Given the description of an element on the screen output the (x, y) to click on. 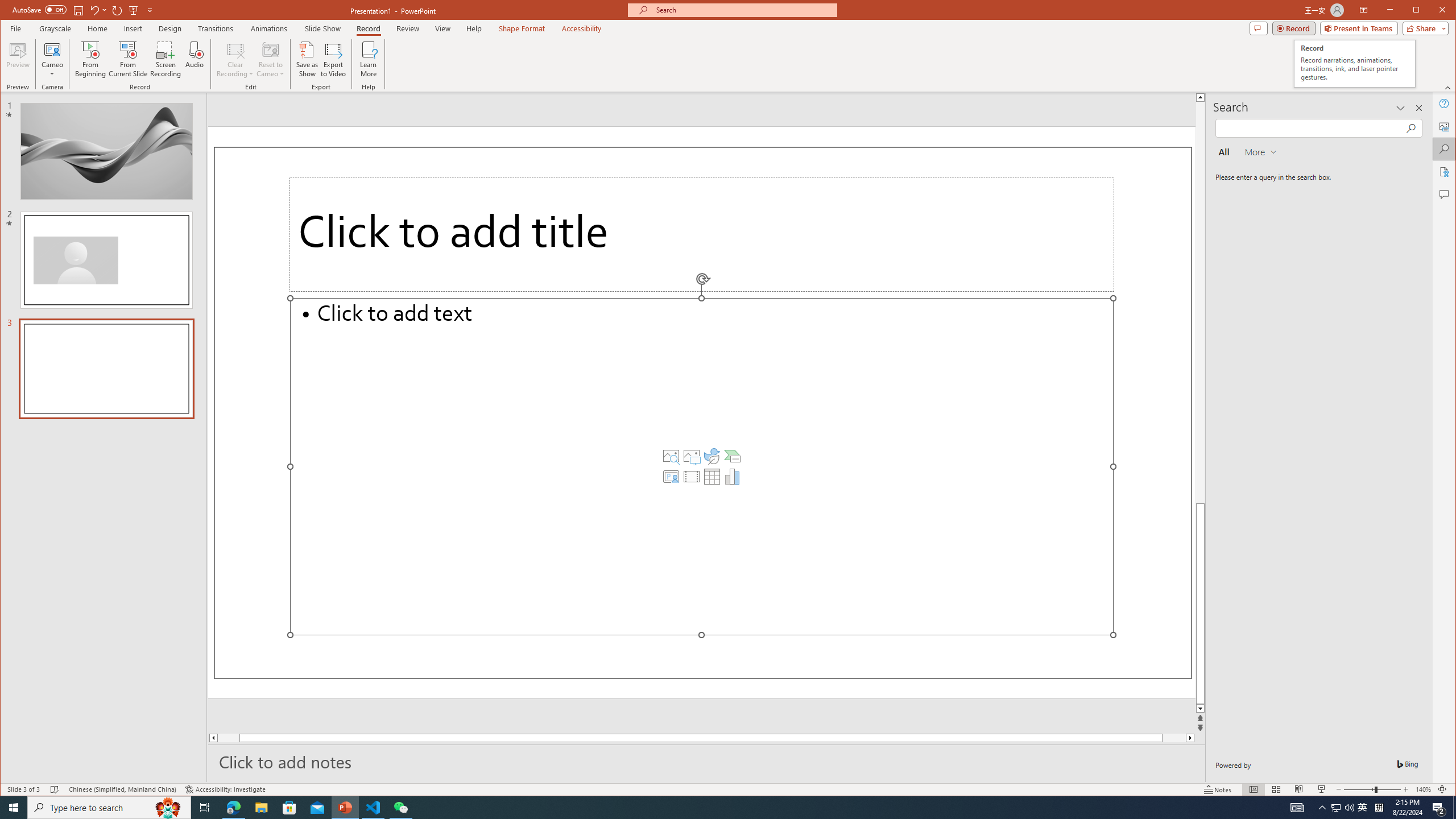
Zoom 140% (1422, 789)
